Given the description of an element on the screen output the (x, y) to click on. 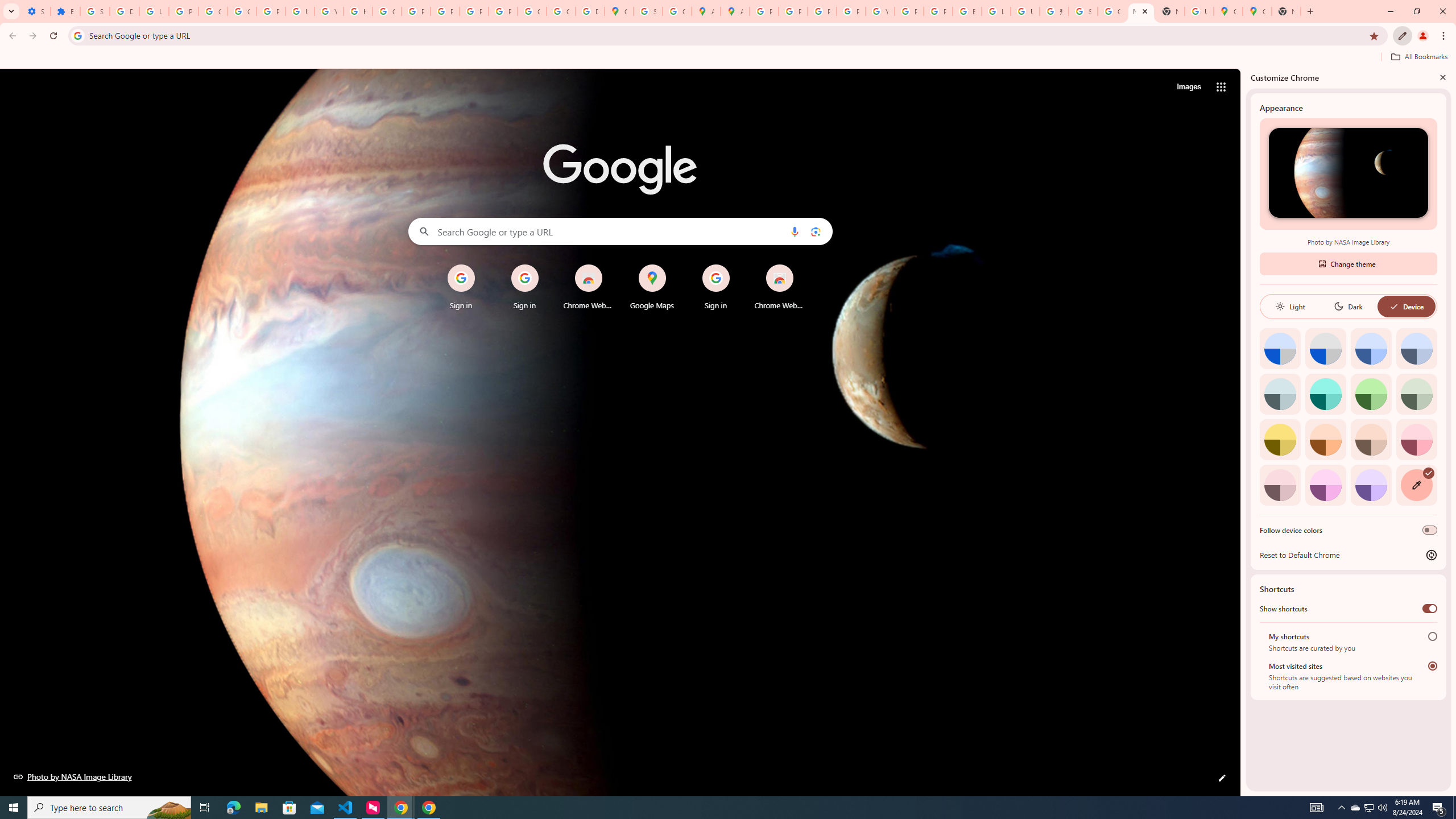
Change theme (1348, 263)
Pink (1279, 484)
Privacy Help Center - Policies Help (415, 11)
Blue (1371, 348)
Google Maps (619, 11)
Aqua (1325, 393)
My shortcuts (1432, 636)
